Given the description of an element on the screen output the (x, y) to click on. 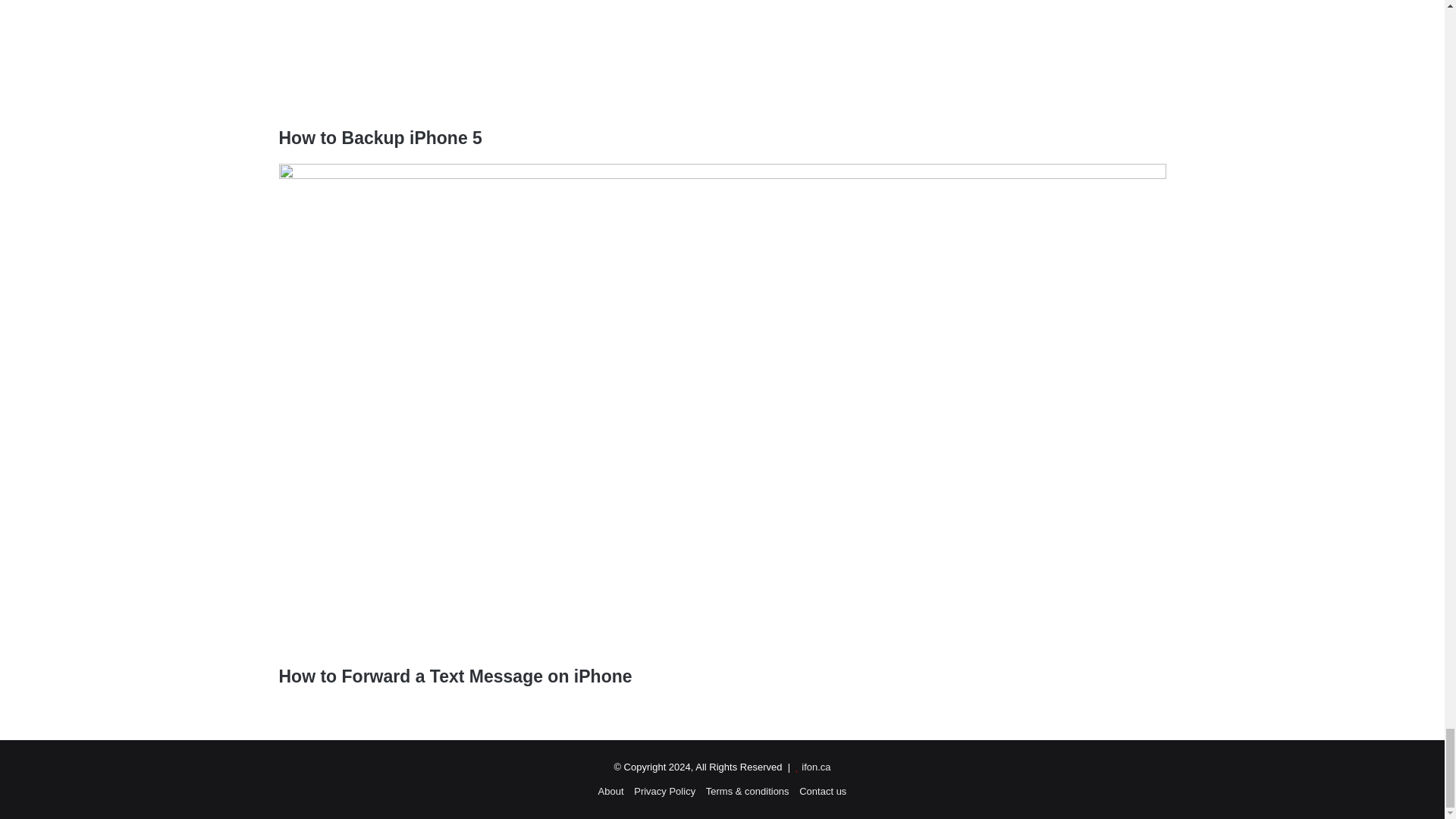
ifon.ca (815, 767)
How to Forward a Text Message on iPhone (455, 676)
Contact us (822, 790)
Privacy Policy (664, 790)
About (611, 790)
How to Backup iPhone 5 (380, 137)
